Given the description of an element on the screen output the (x, y) to click on. 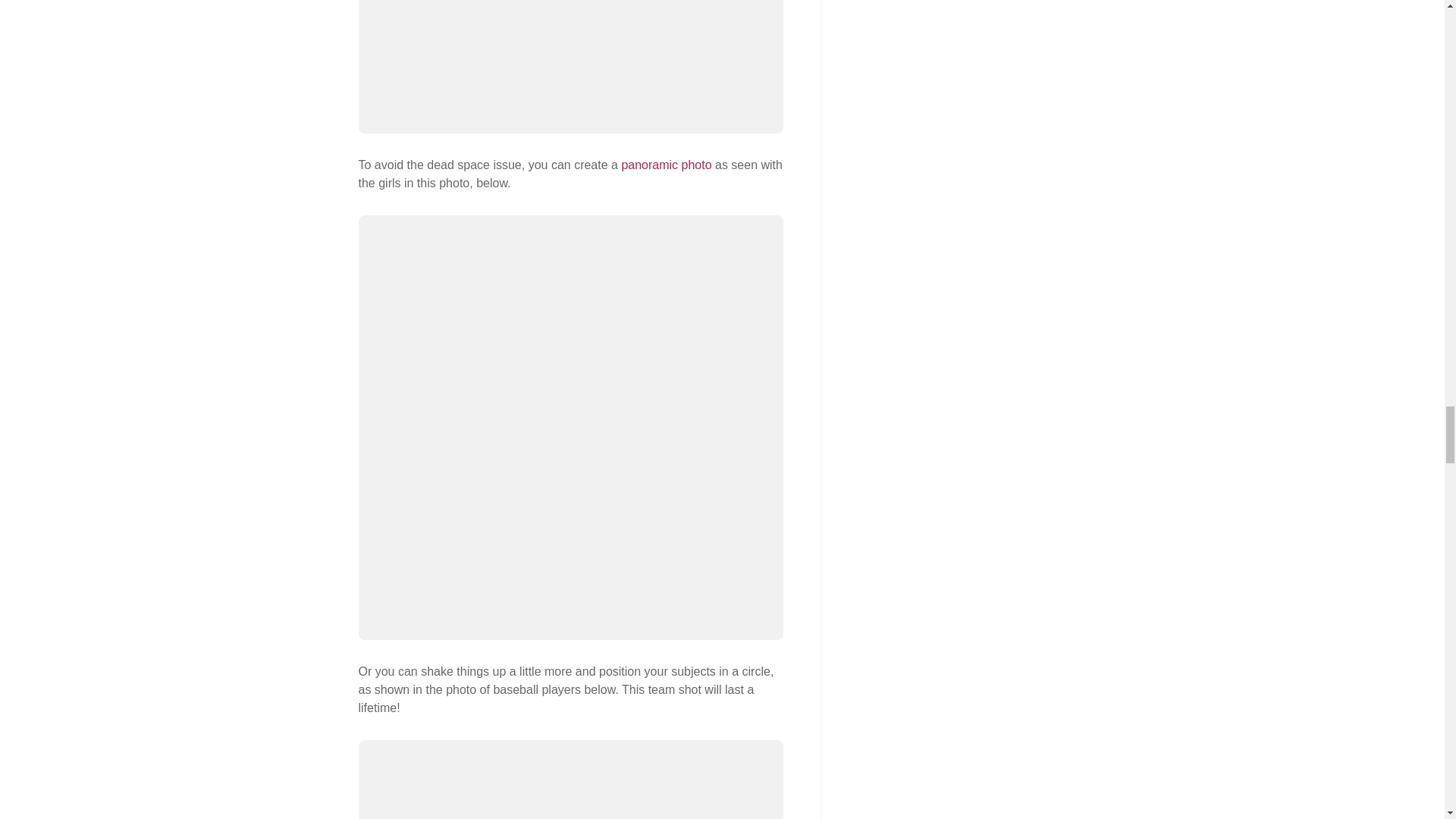
panoramic photo (666, 164)
